Given the description of an element on the screen output the (x, y) to click on. 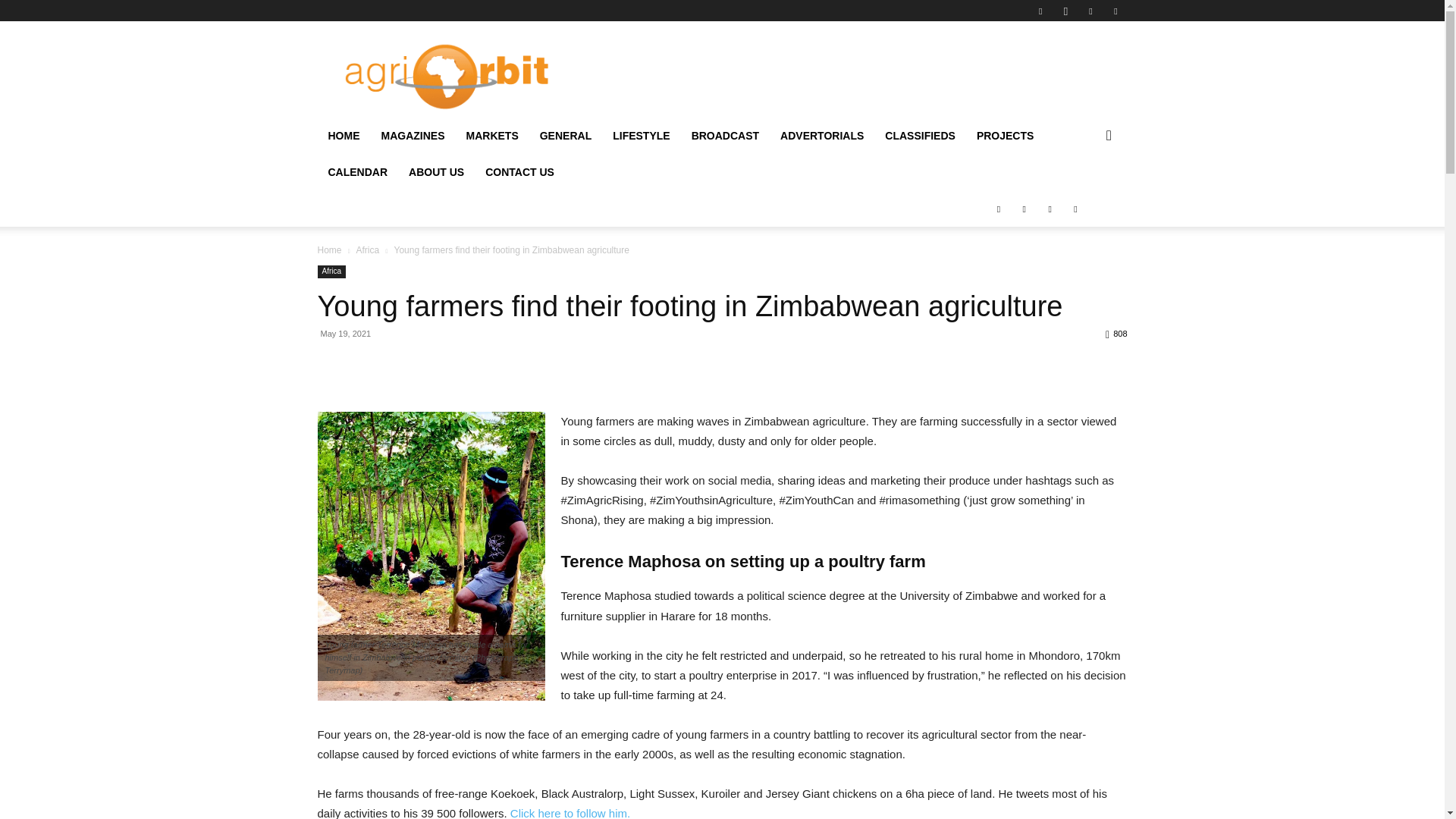
Youtube (1114, 10)
View all posts in Africa (366, 249)
Instagram (1065, 10)
Facebook (1040, 10)
Twitter (1090, 10)
